Given the description of an element on the screen output the (x, y) to click on. 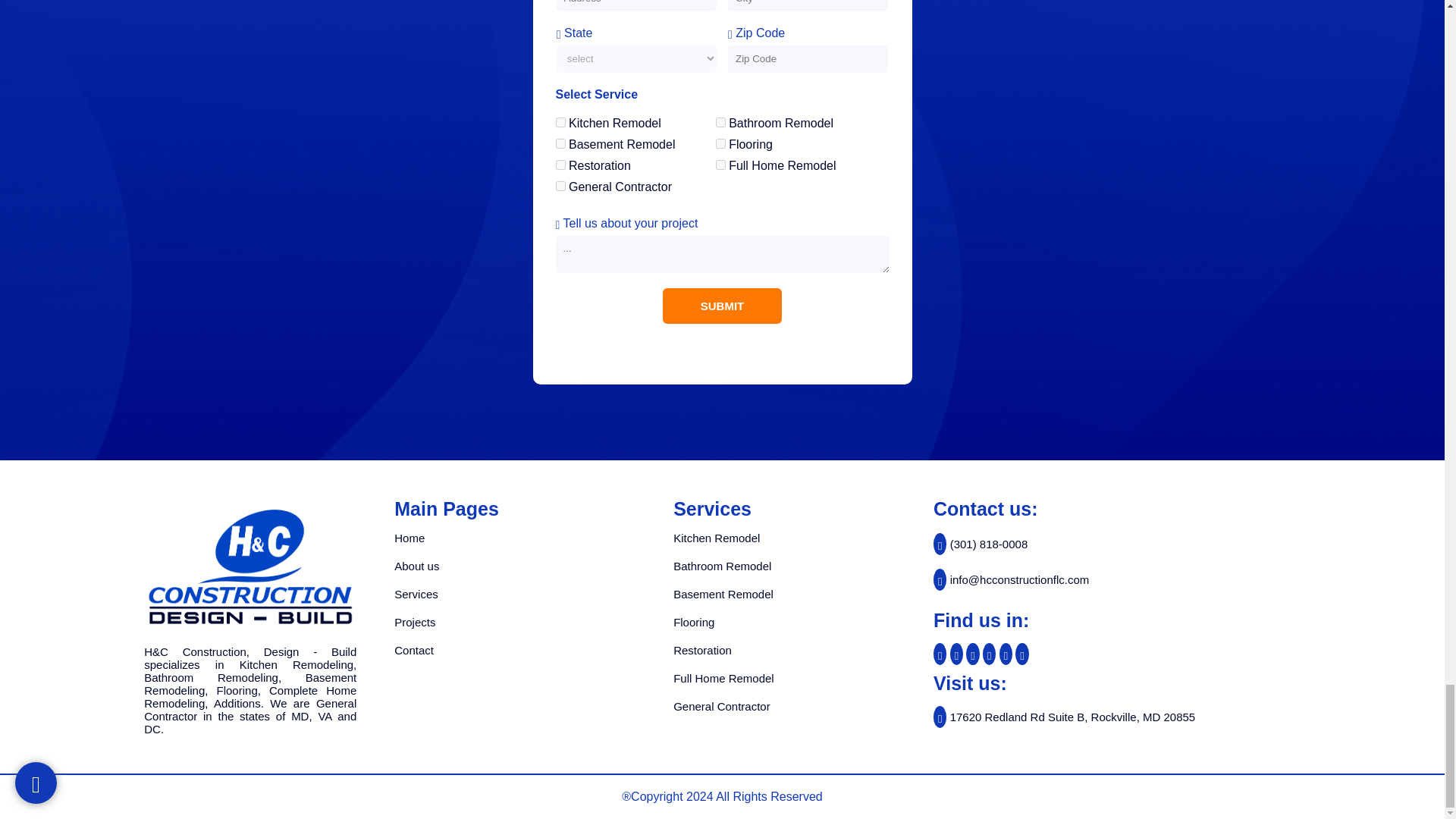
Restoration (559, 164)
Bathroom Remodel (720, 122)
General Contractor (559, 185)
Full Home Remodel (720, 164)
Kitchen Remodel (559, 122)
Basement Remodel (559, 143)
Flooring (720, 143)
